Given the description of an element on the screen output the (x, y) to click on. 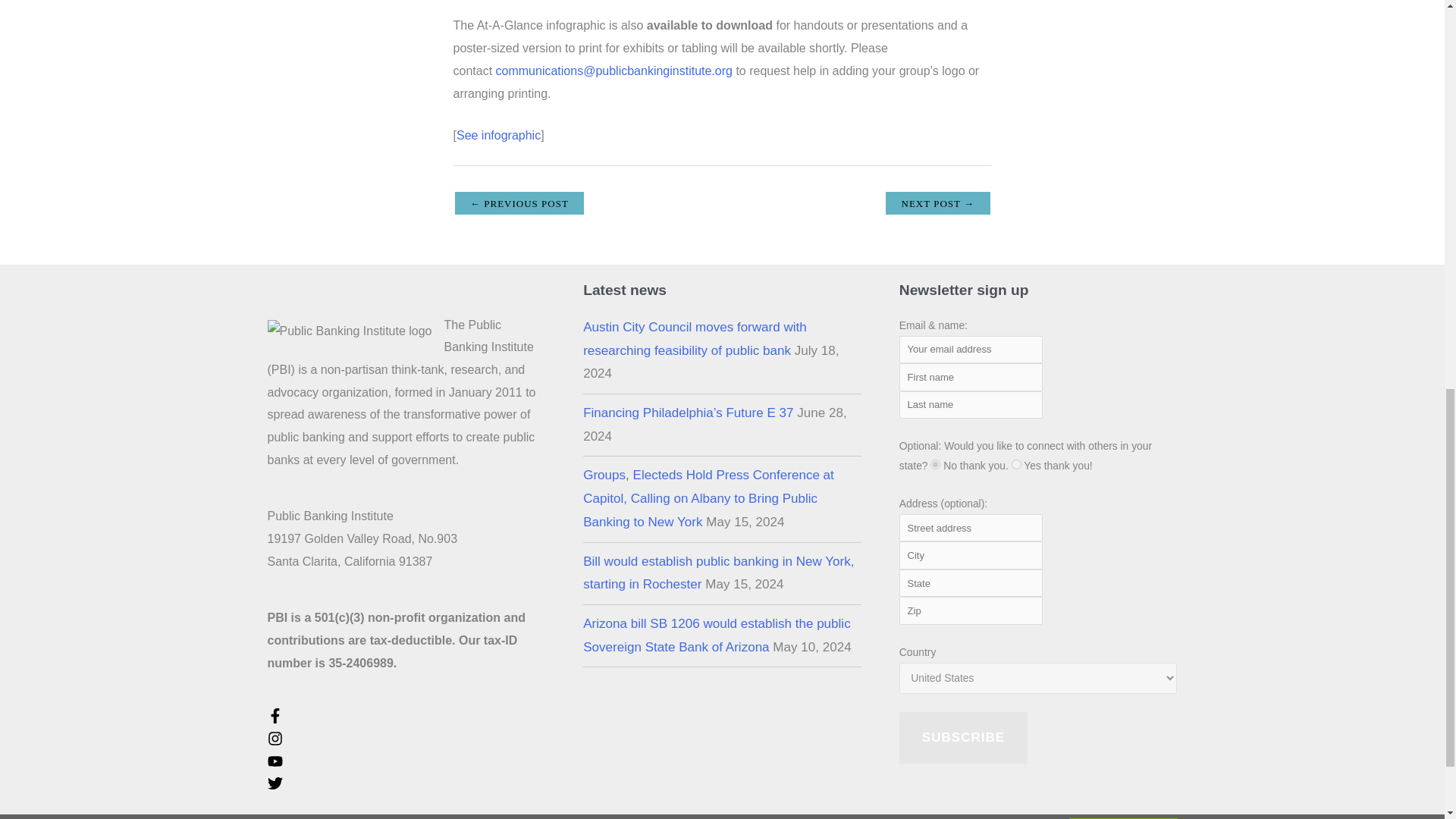
Connect (1016, 464)
Subscribe (963, 737)
no thanks (935, 464)
